Given the description of an element on the screen output the (x, y) to click on. 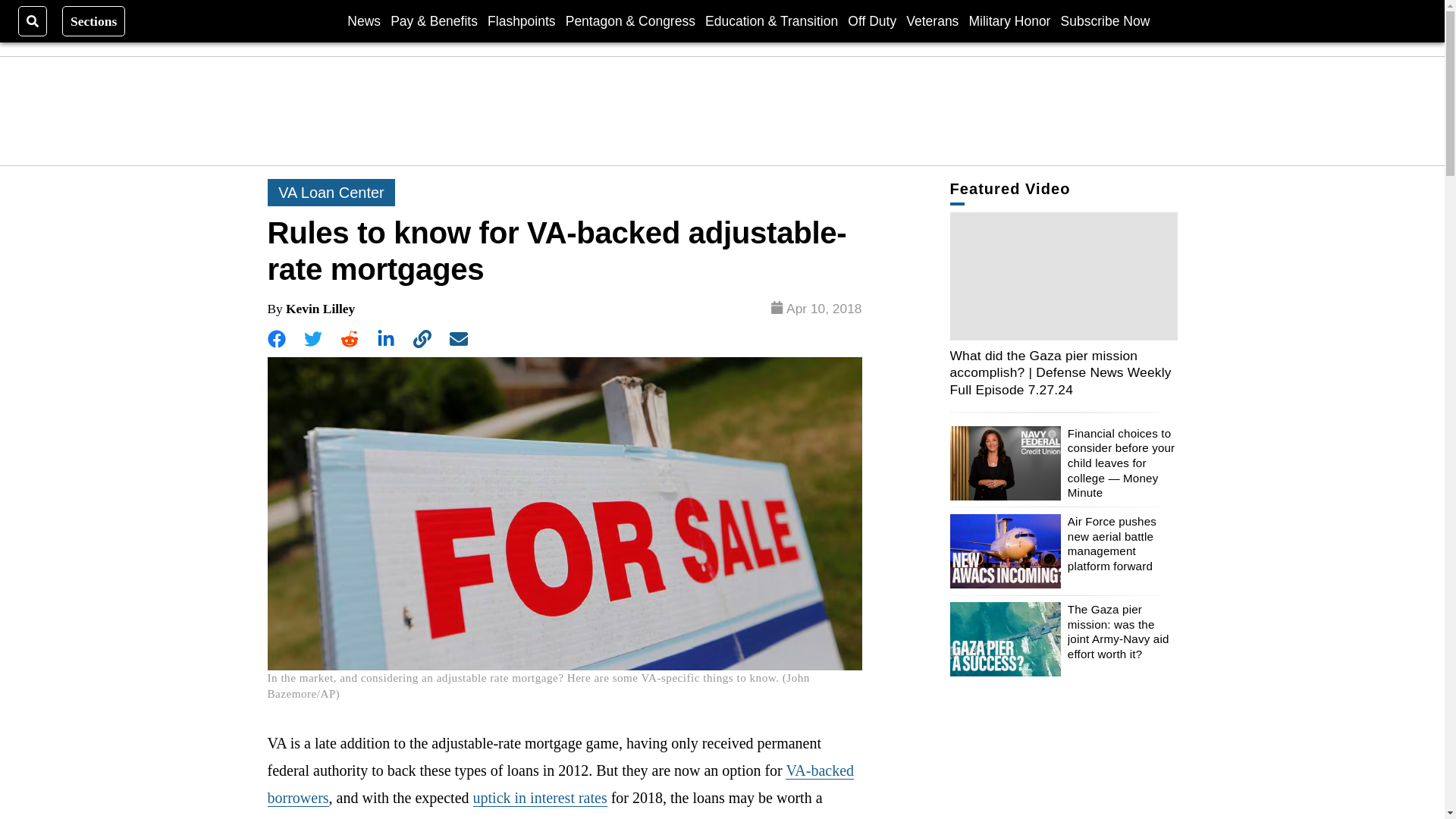
Flashpoints (521, 20)
News (363, 20)
Sections (93, 20)
Veterans (931, 20)
Military Honor (1010, 20)
Off Duty (871, 20)
